Given the description of an element on the screen output the (x, y) to click on. 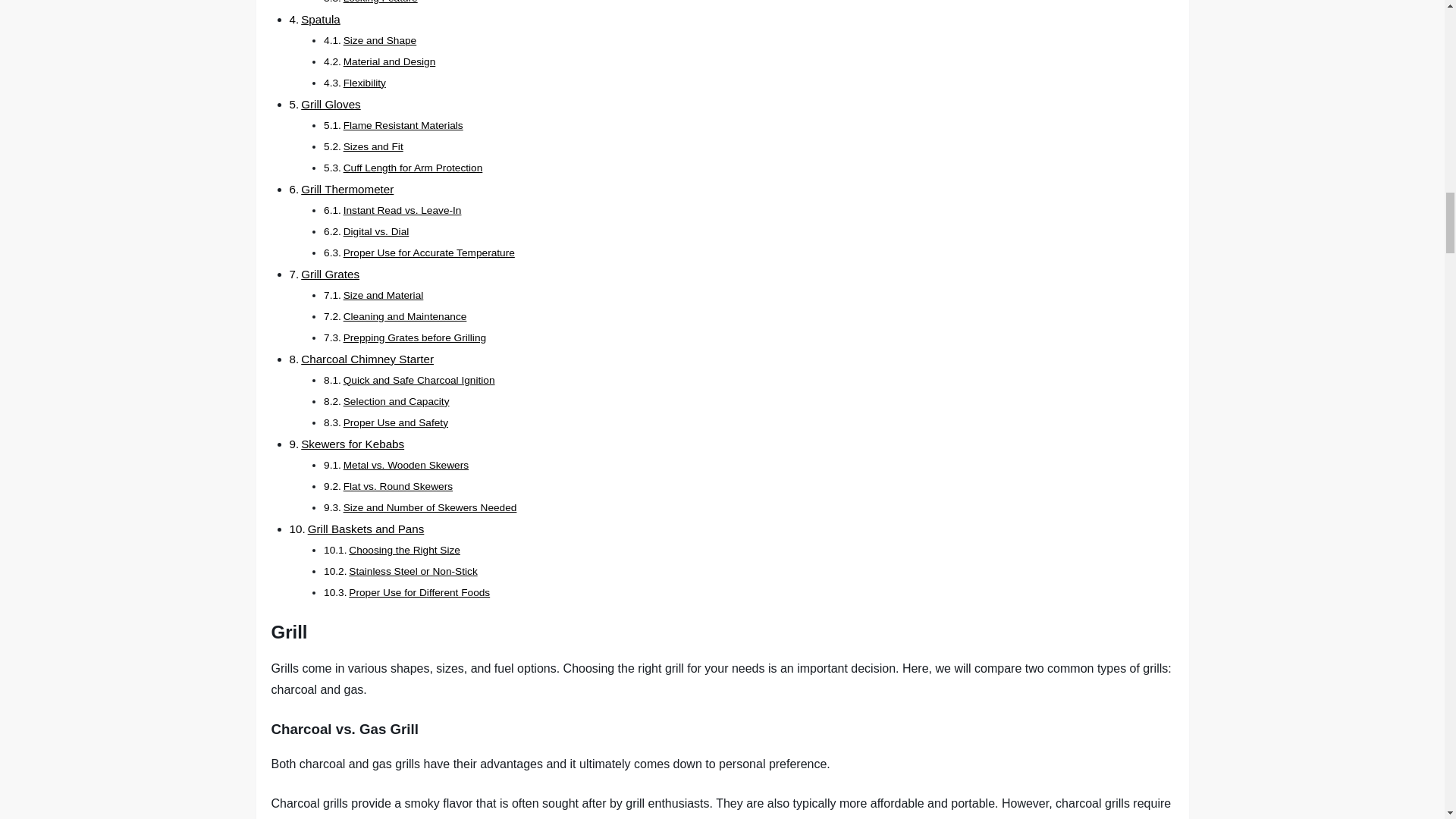
Grill Gloves (330, 103)
Flexibility (364, 82)
Spatula (320, 19)
Flame Resistant Materials (403, 125)
Sizes and Fit (373, 146)
Locking Feature (380, 2)
Locking Feature (380, 2)
Spatula (320, 19)
Size and Shape (379, 40)
Material and Design (389, 61)
